Given the description of an element on the screen output the (x, y) to click on. 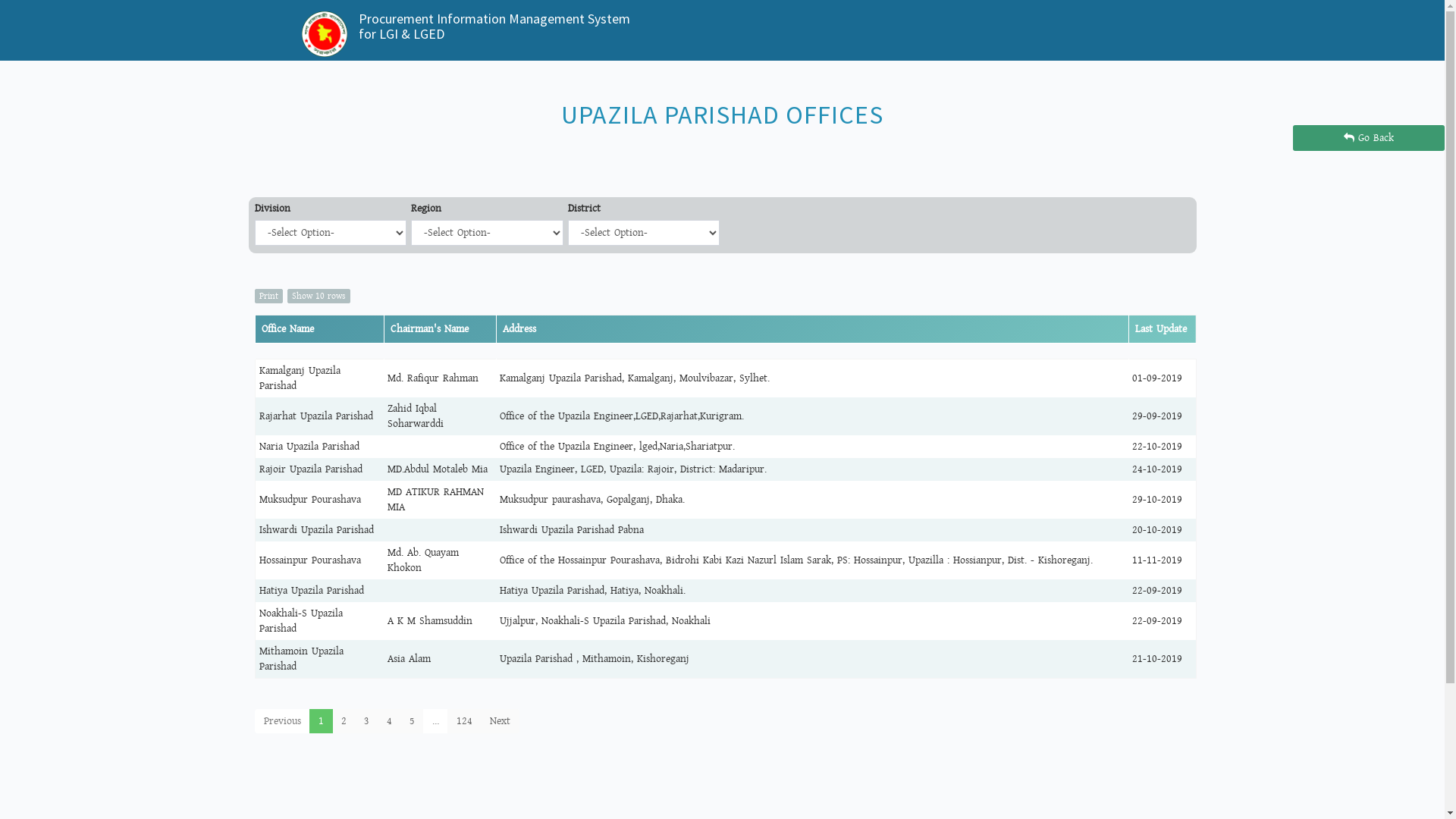
Show 10 rows Element type: text (317, 295)
Next Element type: text (499, 721)
3 Element type: text (366, 721)
Previous Element type: text (282, 721)
4 Element type: text (389, 721)
124 Element type: text (464, 721)
Go Back Element type: text (1368, 137)
2 Element type: text (343, 721)
1 Element type: text (320, 721)
5 Element type: text (411, 721)
Print Element type: text (268, 295)
